Given the description of an element on the screen output the (x, y) to click on. 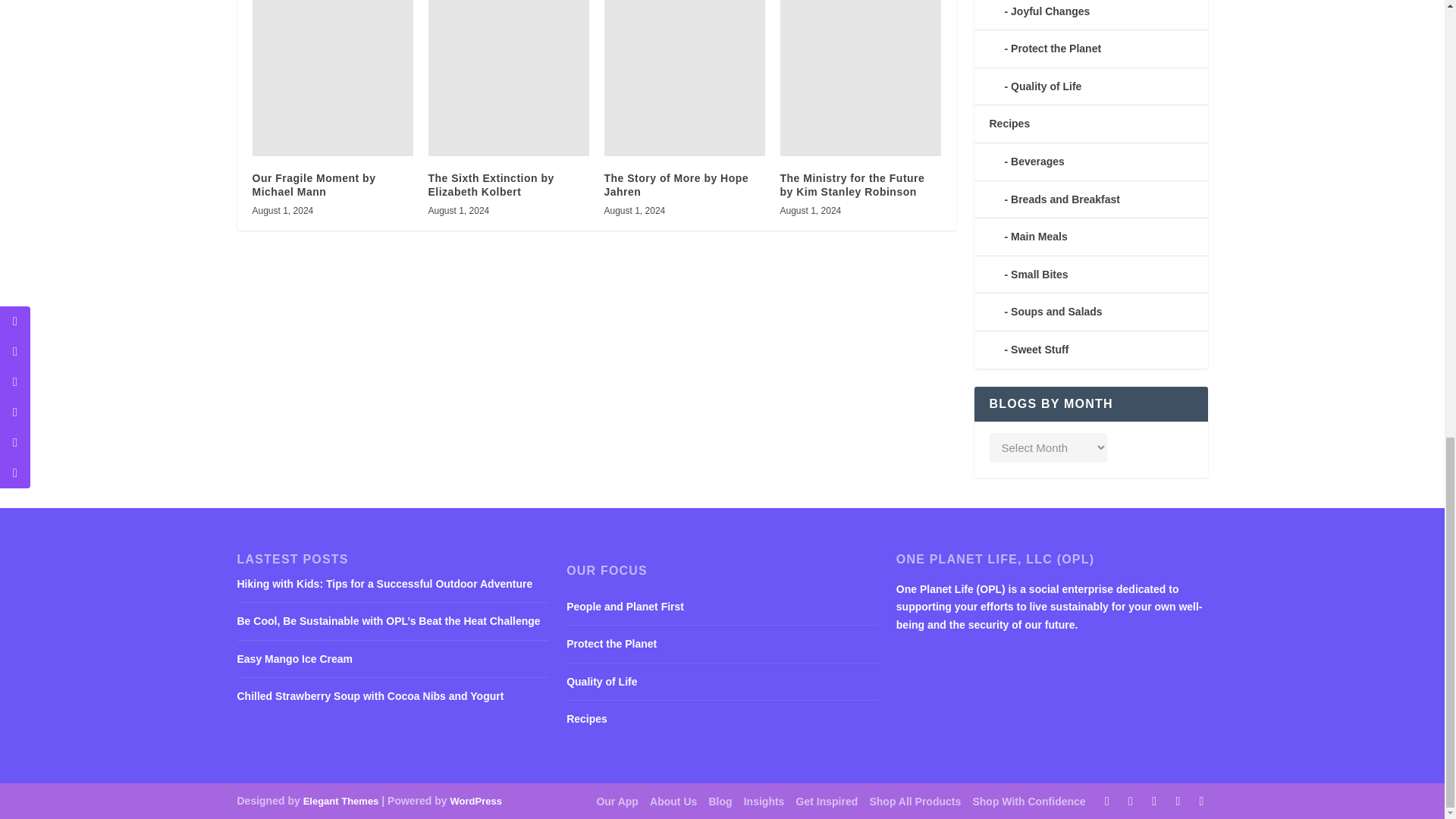
Our Fragile Moment by Michael Mann (331, 78)
The Story of More by Hope Jahren (684, 78)
The Sixth Extinction by Elizabeth Kolbert (508, 78)
The Ministry for the Future by Kim Stanley Robinson (859, 78)
